Given the description of an element on the screen output the (x, y) to click on. 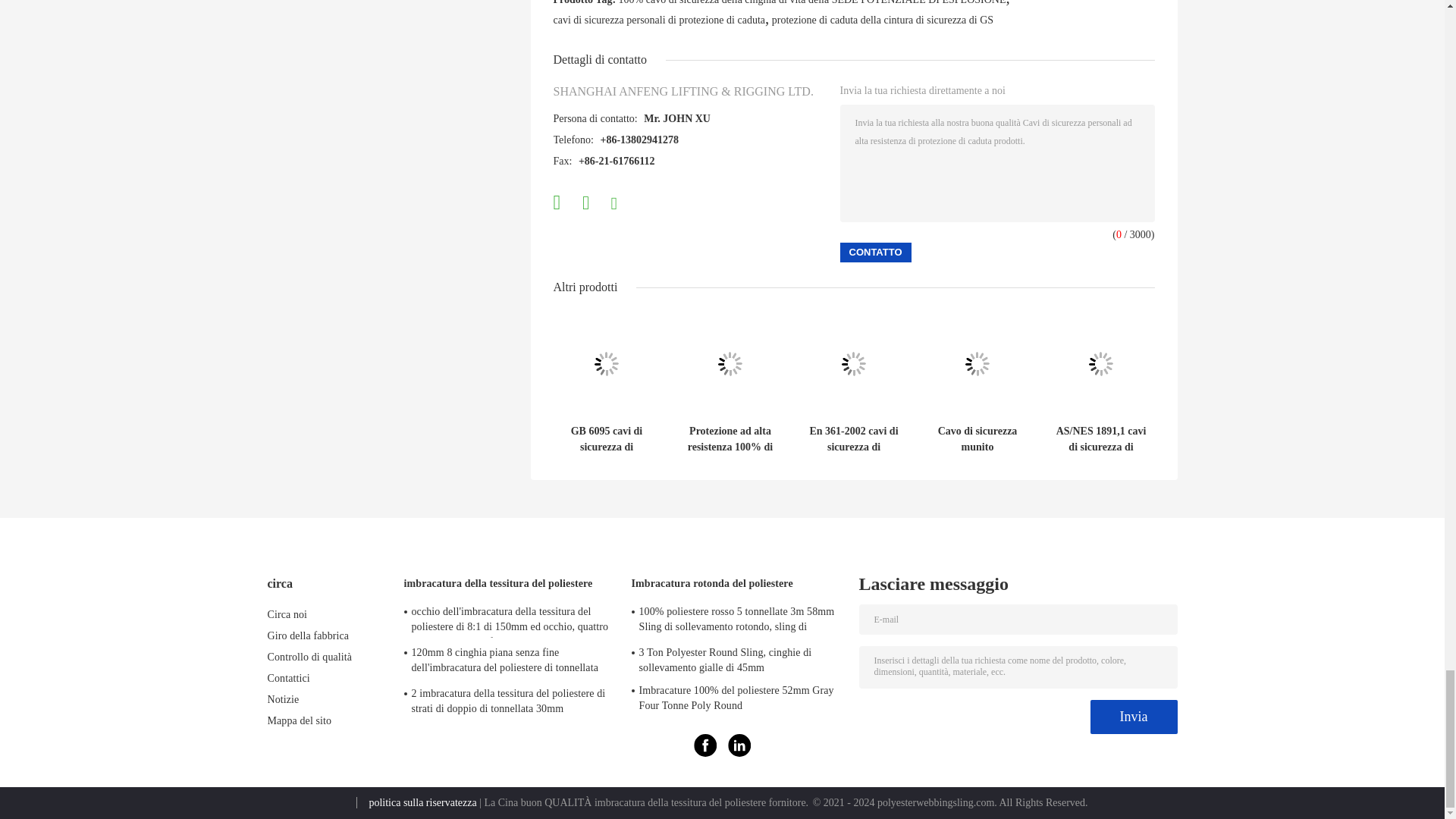
Invia (1133, 716)
Contatto (875, 252)
